Given the description of an element on the screen output the (x, y) to click on. 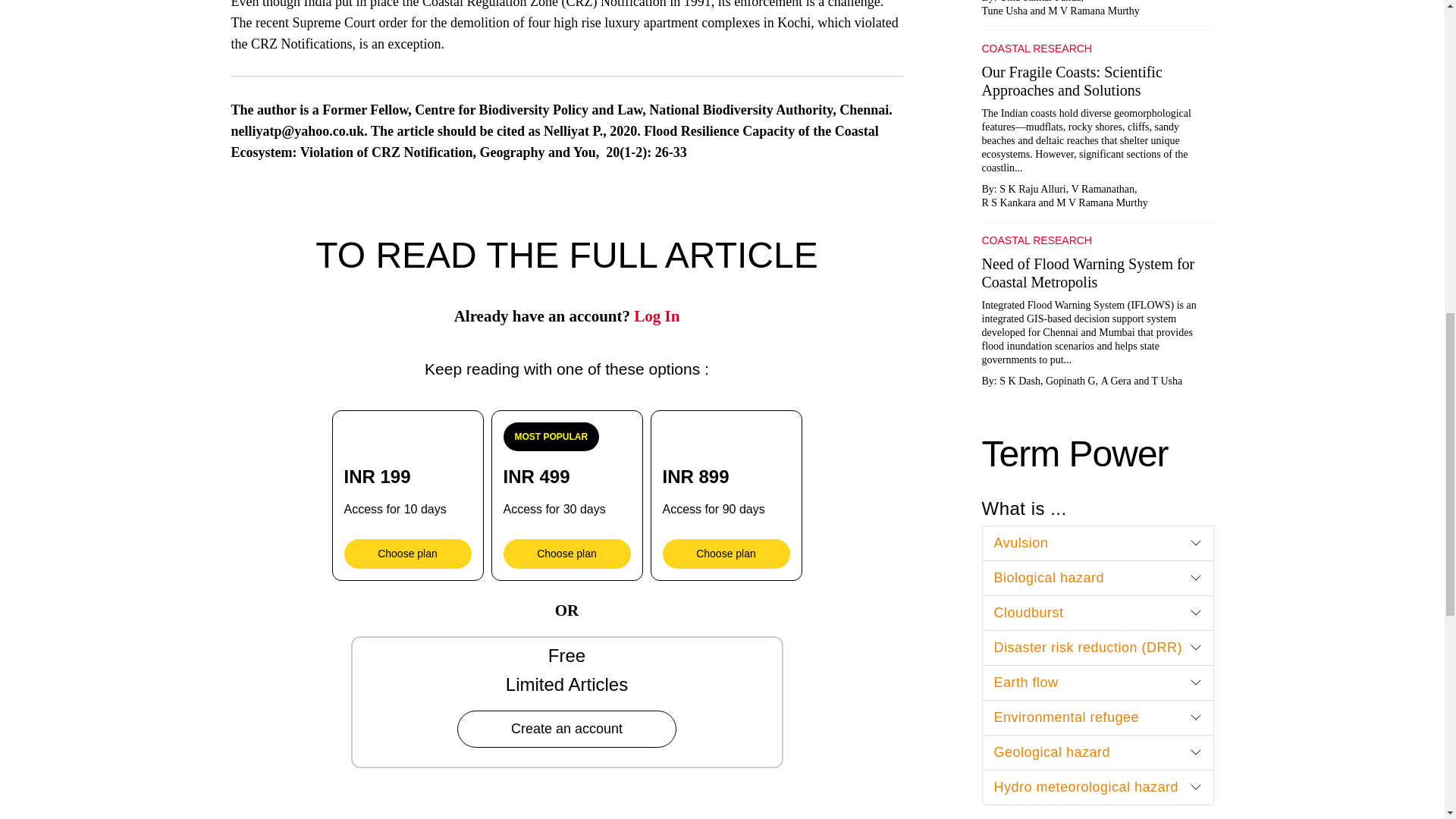
Log In (656, 315)
Choose plan (407, 553)
